Given the description of an element on the screen output the (x, y) to click on. 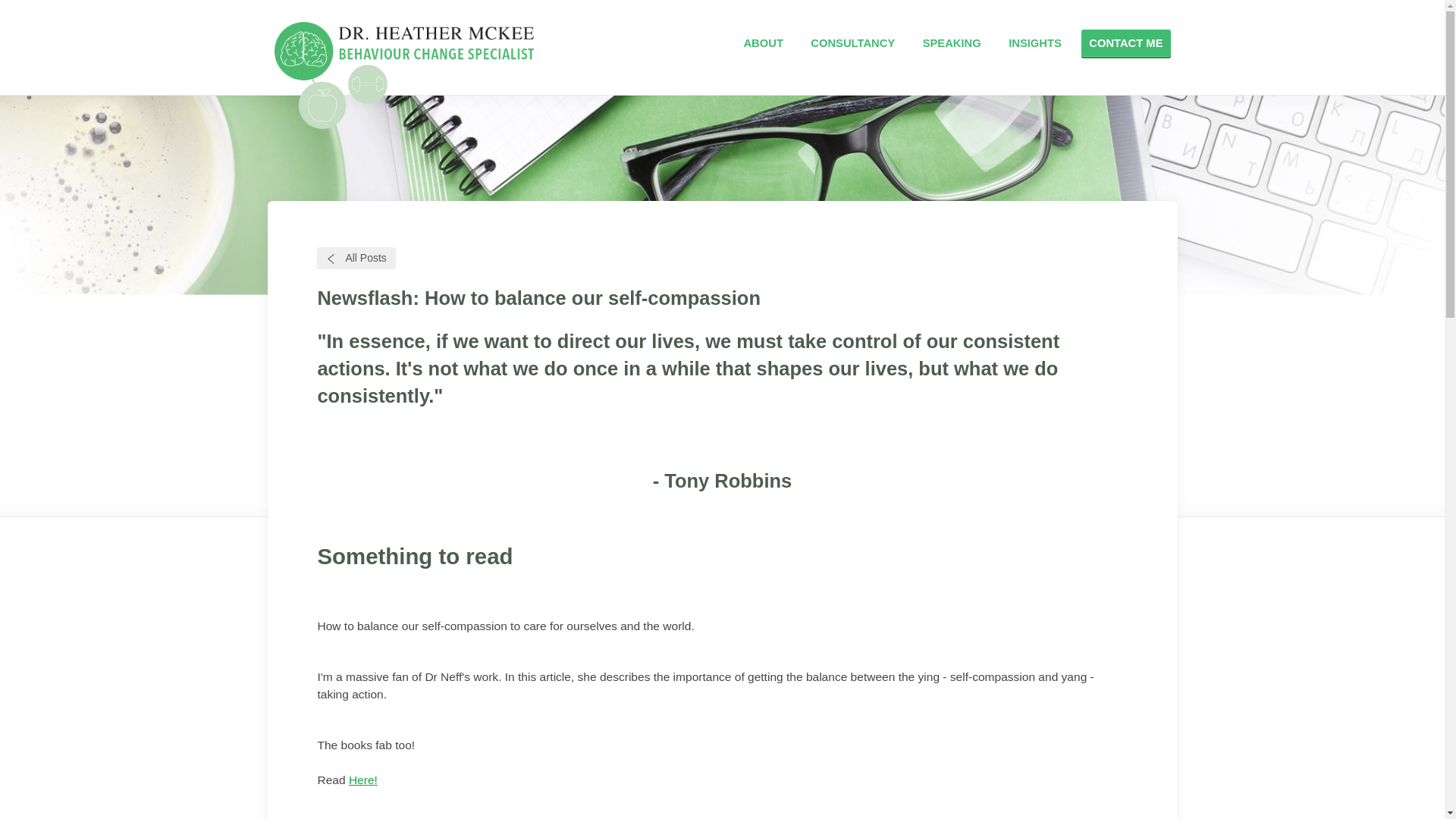
Here! (363, 779)
All Posts (355, 258)
INSIGHTS (1034, 43)
SPEAKING (951, 43)
CONSULTANCY (852, 43)
ABOUT (762, 43)
CONTACT ME (1125, 43)
